Given the description of an element on the screen output the (x, y) to click on. 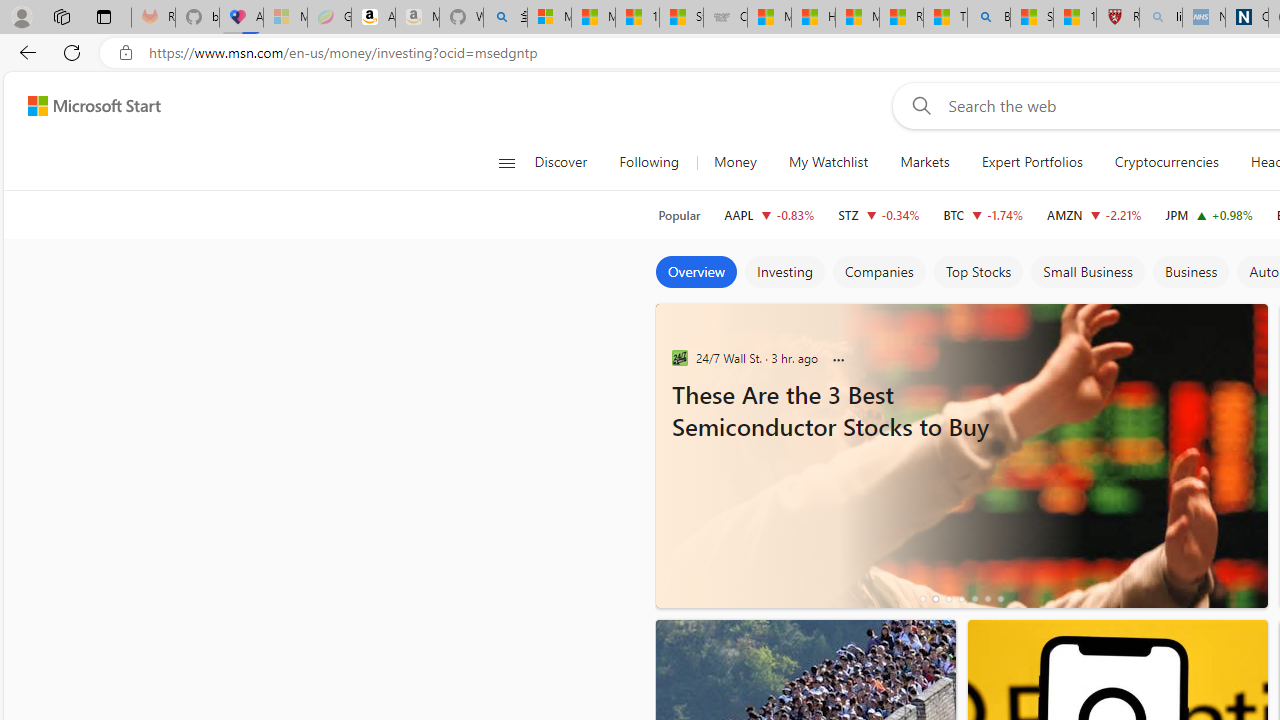
Popular (679, 215)
